Given the description of an element on the screen output the (x, y) to click on. 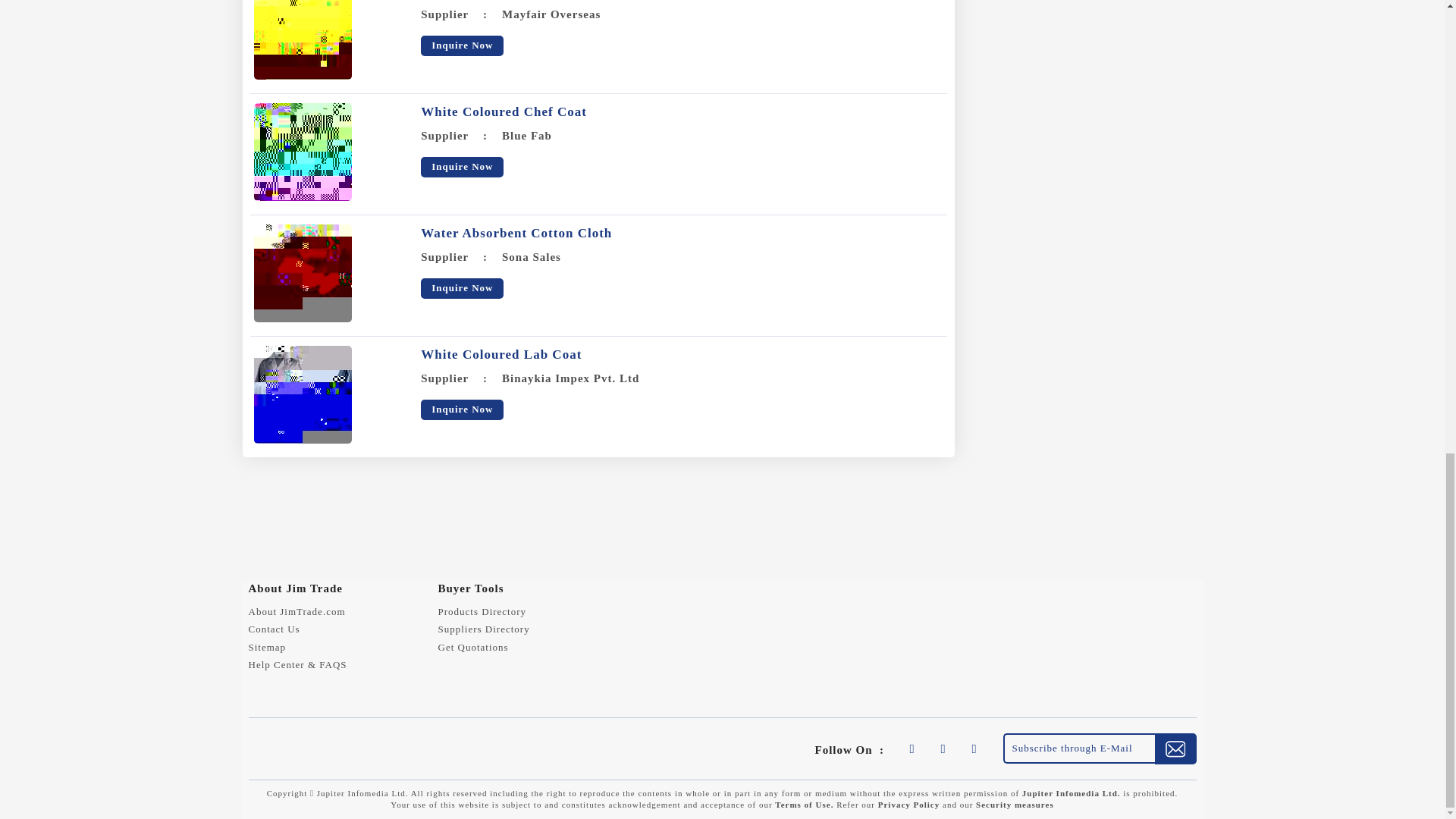
Sitemap (267, 646)
White Coloured Lab Coat (301, 394)
Products Directory (482, 611)
Sitemap (267, 646)
Water Absorbent Cotton Cloth (515, 233)
Inquire Now (461, 167)
Post Inquiry (473, 646)
Get Quotations (473, 646)
Puffer Coat With Fur Collar (301, 39)
About JimTrade.com (297, 611)
